Given the description of an element on the screen output the (x, y) to click on. 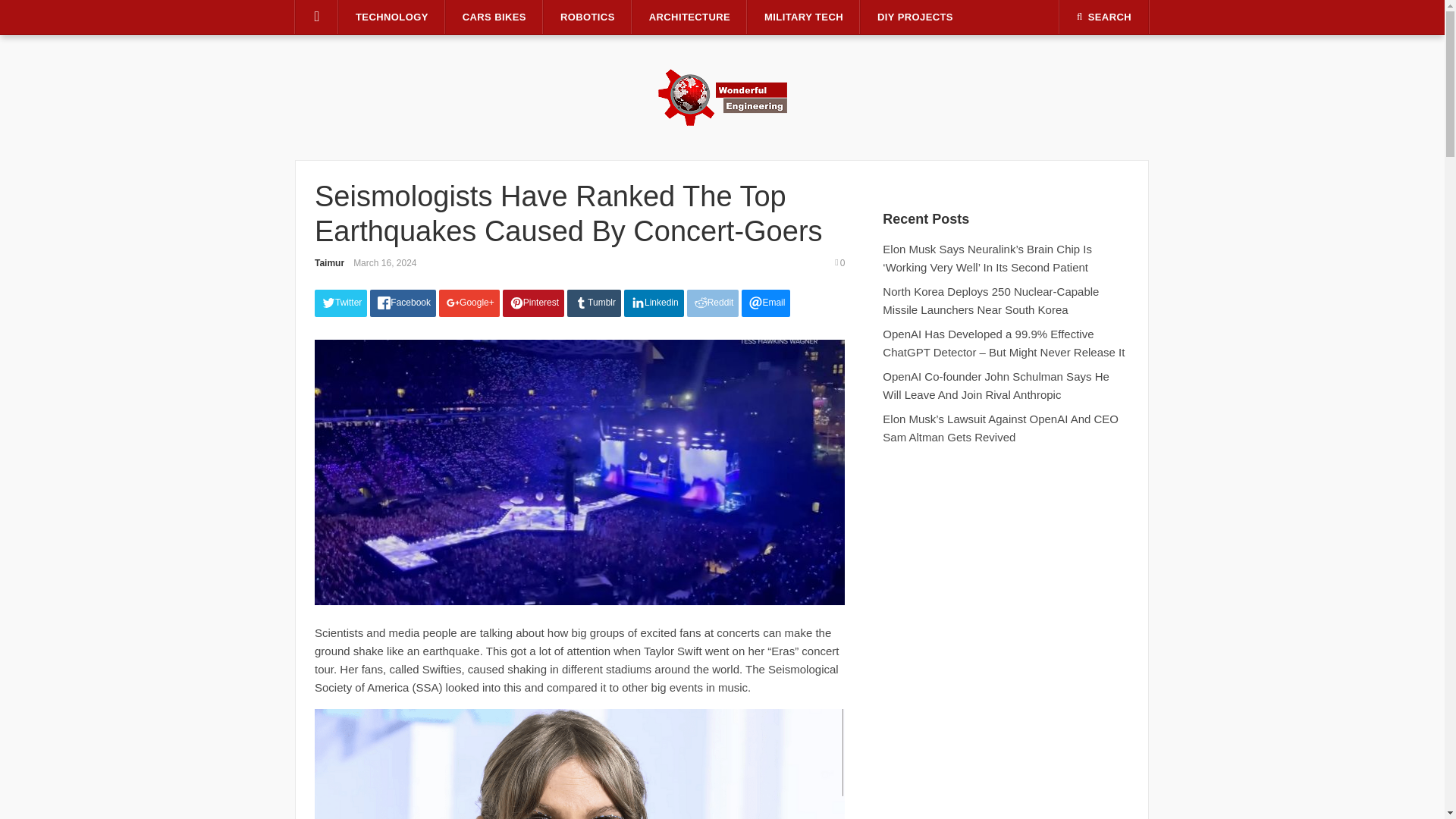
TECHNOLOGY (392, 17)
CARS BIKES (494, 17)
Linkedin (654, 302)
ROBOTICS (587, 17)
Reddit (713, 302)
Tumblr (594, 302)
Wonderful Engineering (722, 95)
MILITARY TECH (804, 17)
SEARCH (1104, 16)
Facebook (402, 302)
